Given the description of an element on the screen output the (x, y) to click on. 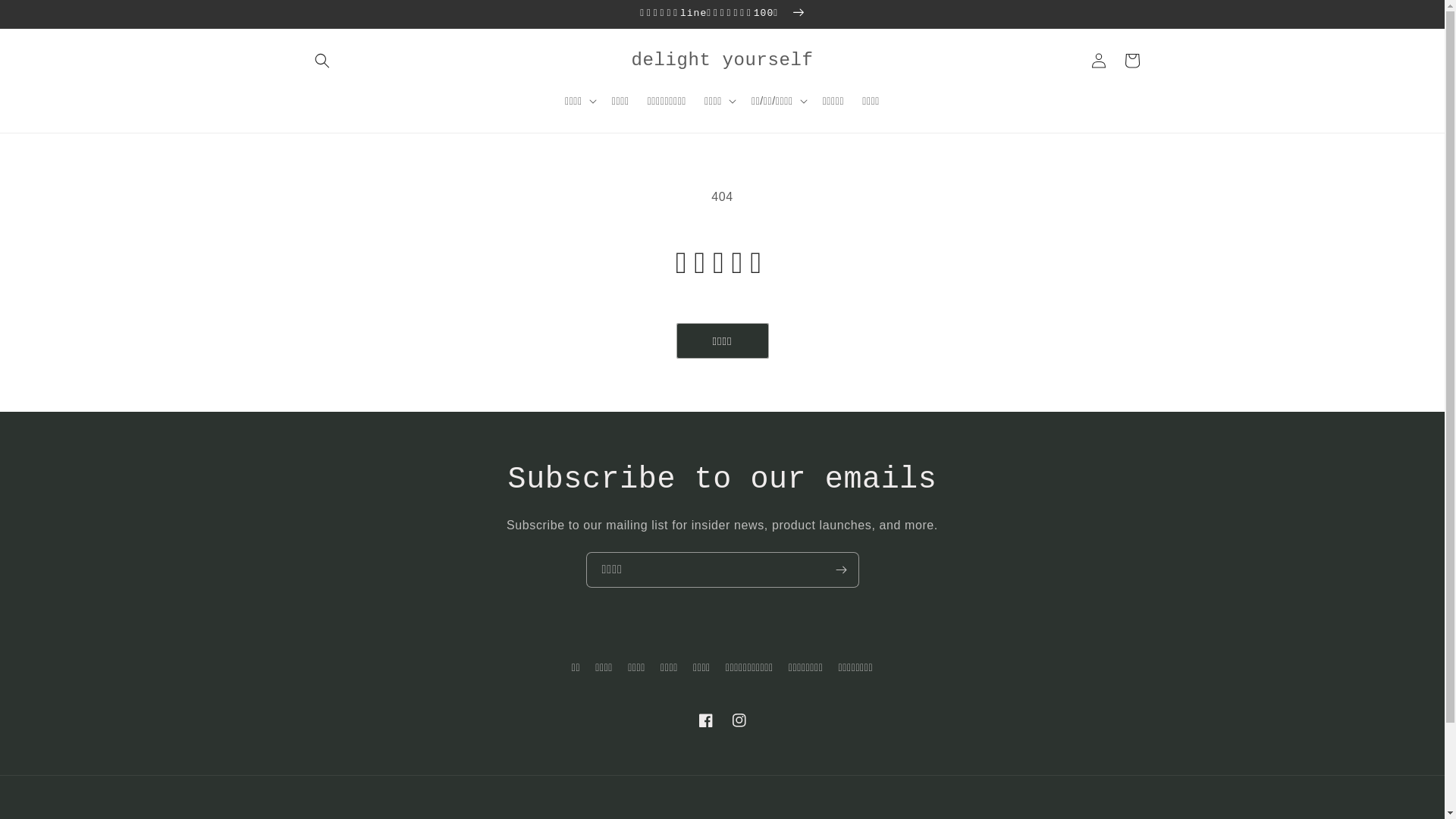
delight yourself Element type: text (722, 60)
Instagram Element type: text (738, 720)
Facebook Element type: text (704, 720)
